Given the description of an element on the screen output the (x, y) to click on. 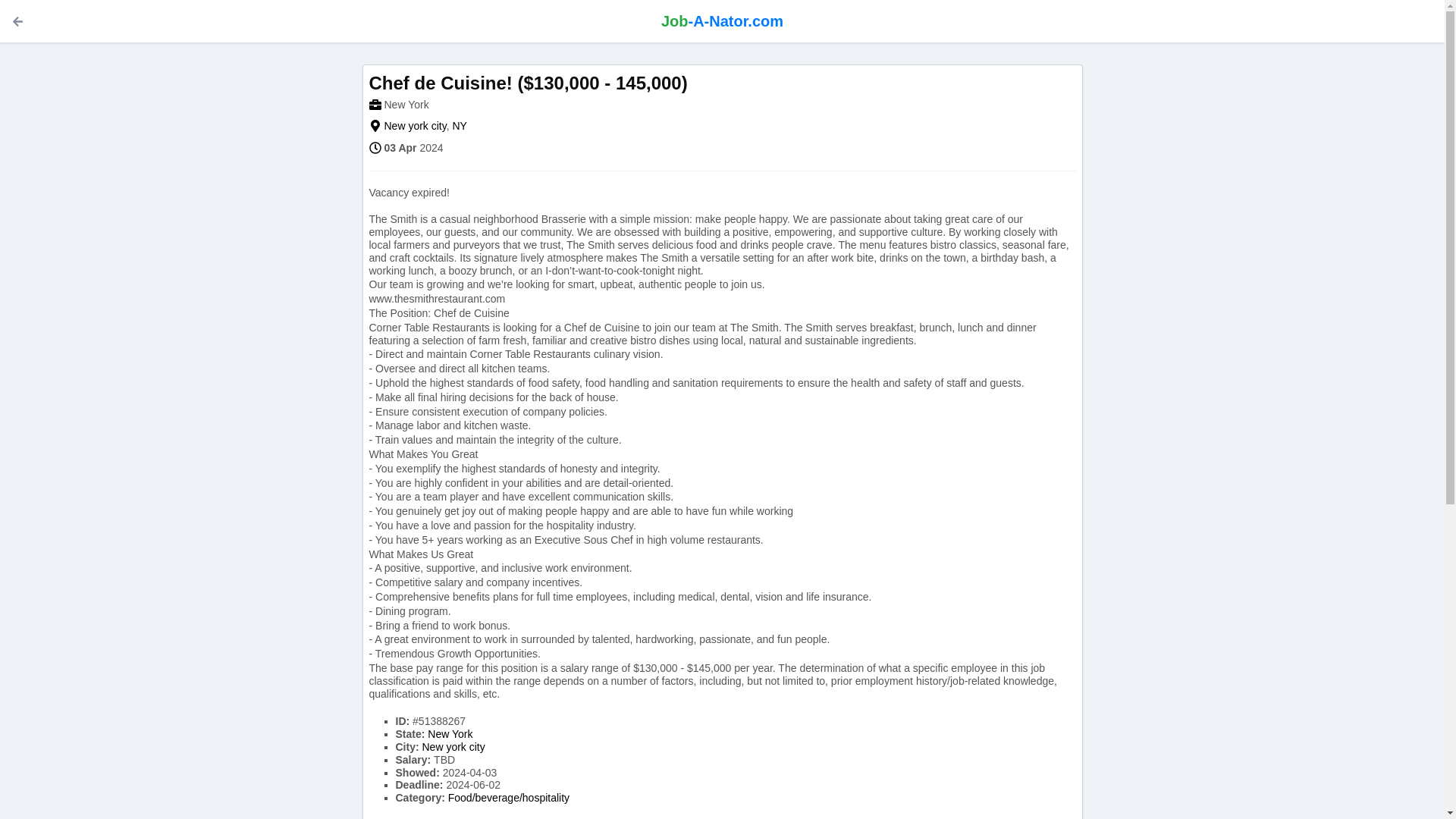
New York (449, 734)
New York (406, 104)
NY (458, 125)
New York job vacancies (406, 104)
New york city (453, 746)
New York (449, 734)
New york city (453, 746)
Job-A-Nator.com (722, 21)
New york city (414, 125)
New york city (414, 125)
